Given the description of an element on the screen output the (x, y) to click on. 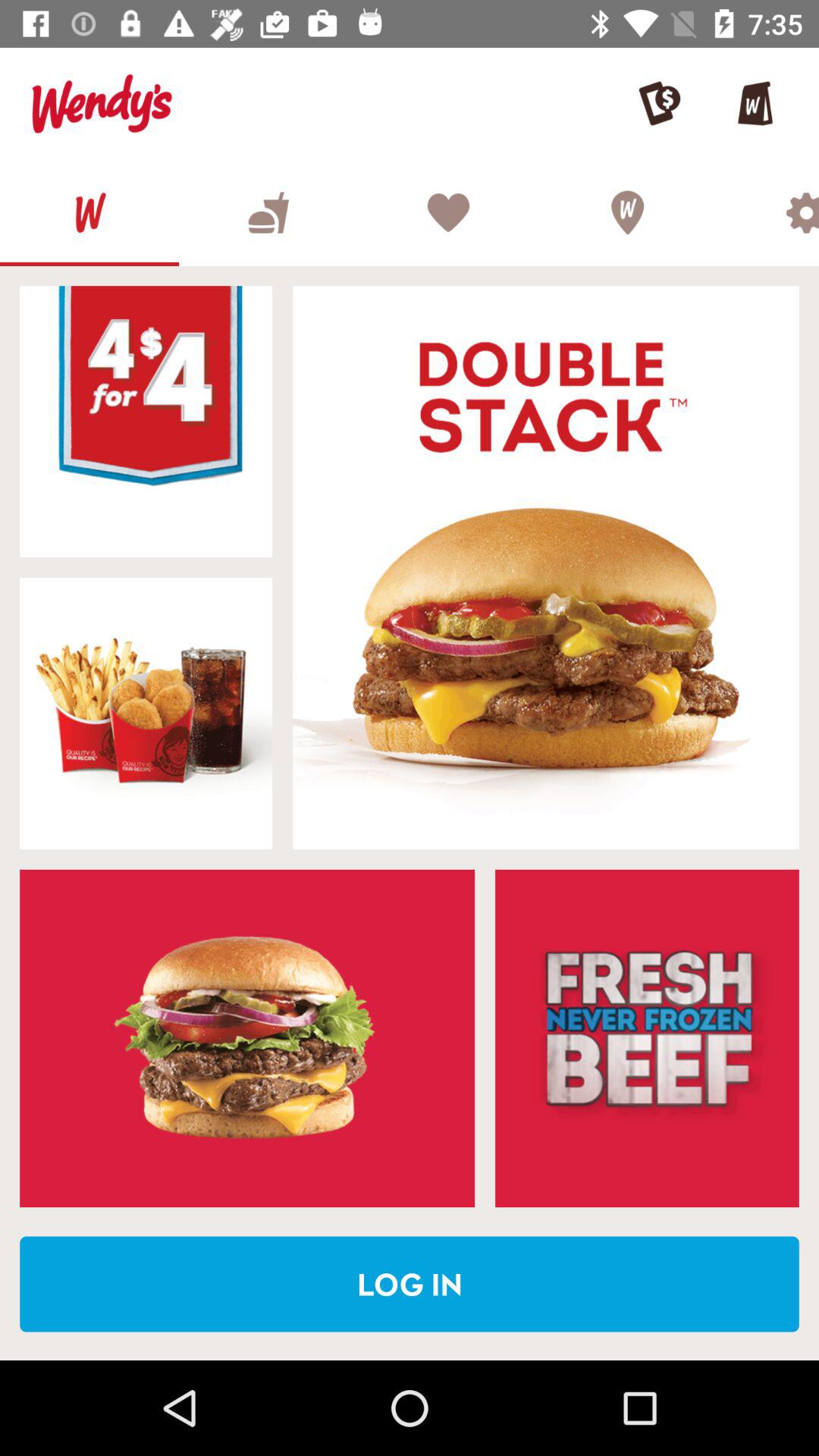
wishlist the item (447, 212)
